Given the description of an element on the screen output the (x, y) to click on. 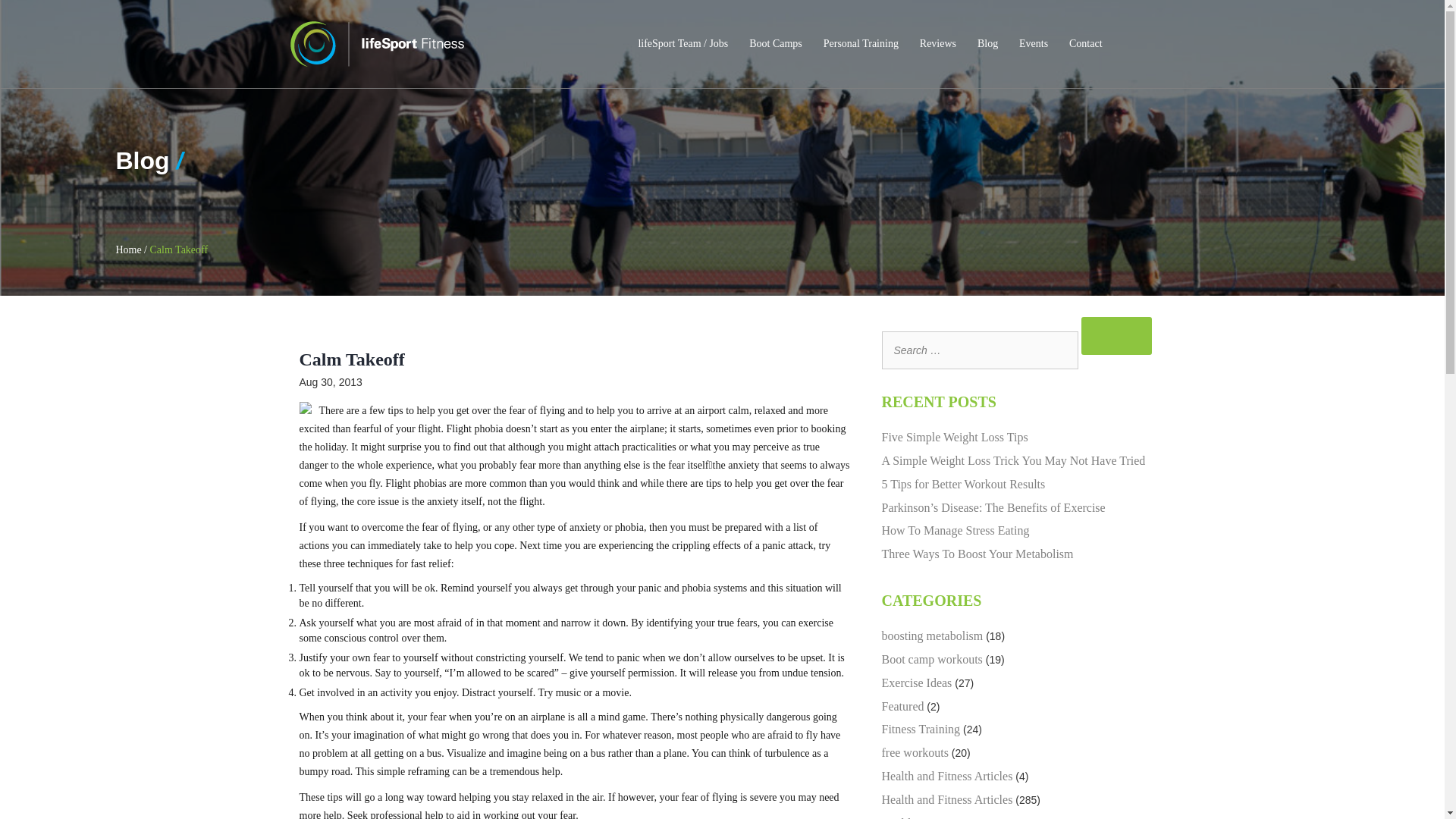
Contact (1085, 44)
Search (1117, 335)
Events (1033, 44)
Boot Camps (775, 44)
Blog (987, 44)
Calm Takeoff (178, 249)
Reviews (937, 44)
Home (128, 249)
Personal Training (860, 44)
LifeSport Fitness (376, 43)
Five Simple Weight Loss Tips (953, 436)
